Given the description of an element on the screen output the (x, y) to click on. 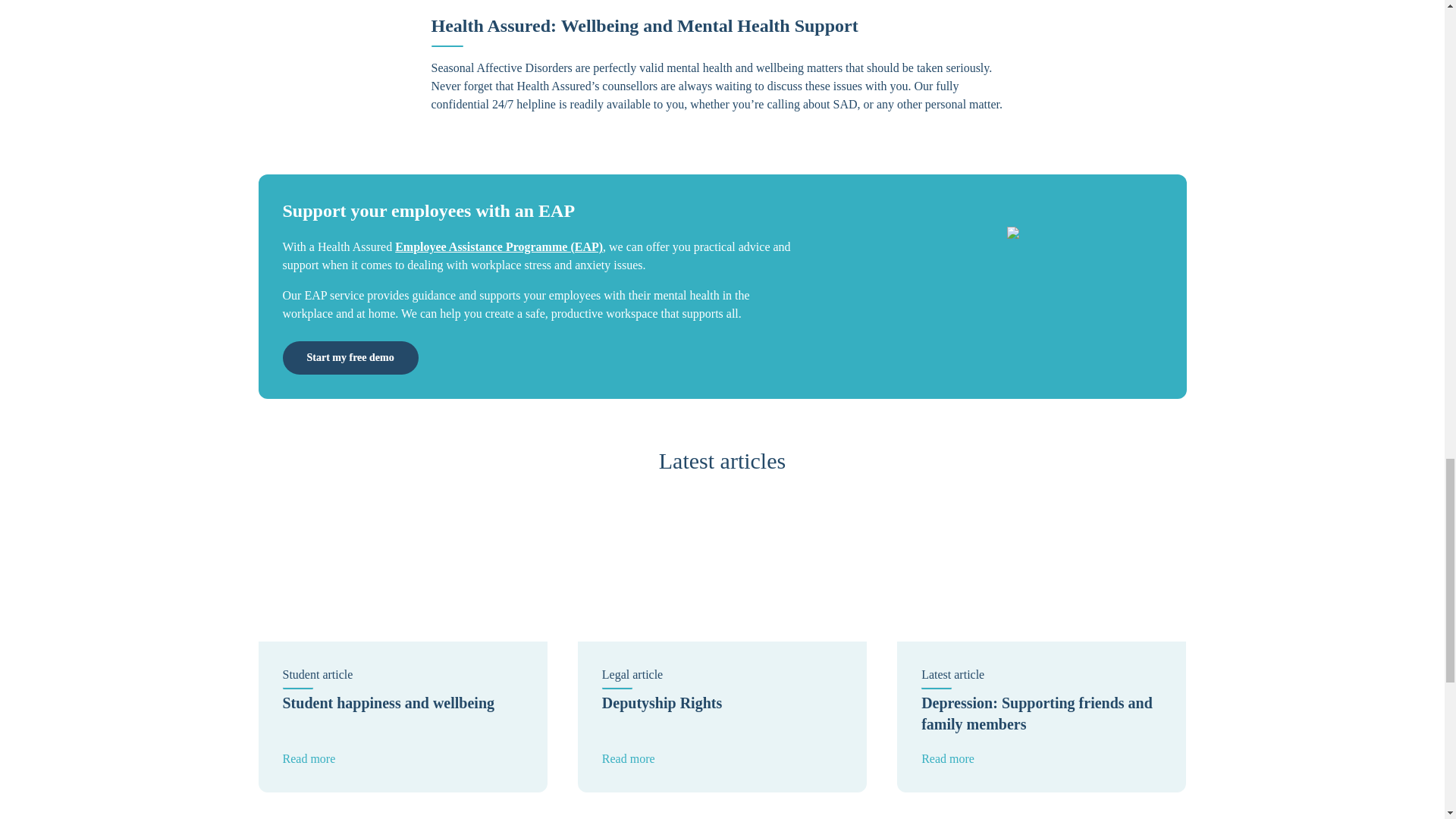
Start my free demo (722, 640)
Depression - Support for friends and family (349, 357)
student happiness (1041, 565)
Deputyship Rights (402, 565)
